Given the description of an element on the screen output the (x, y) to click on. 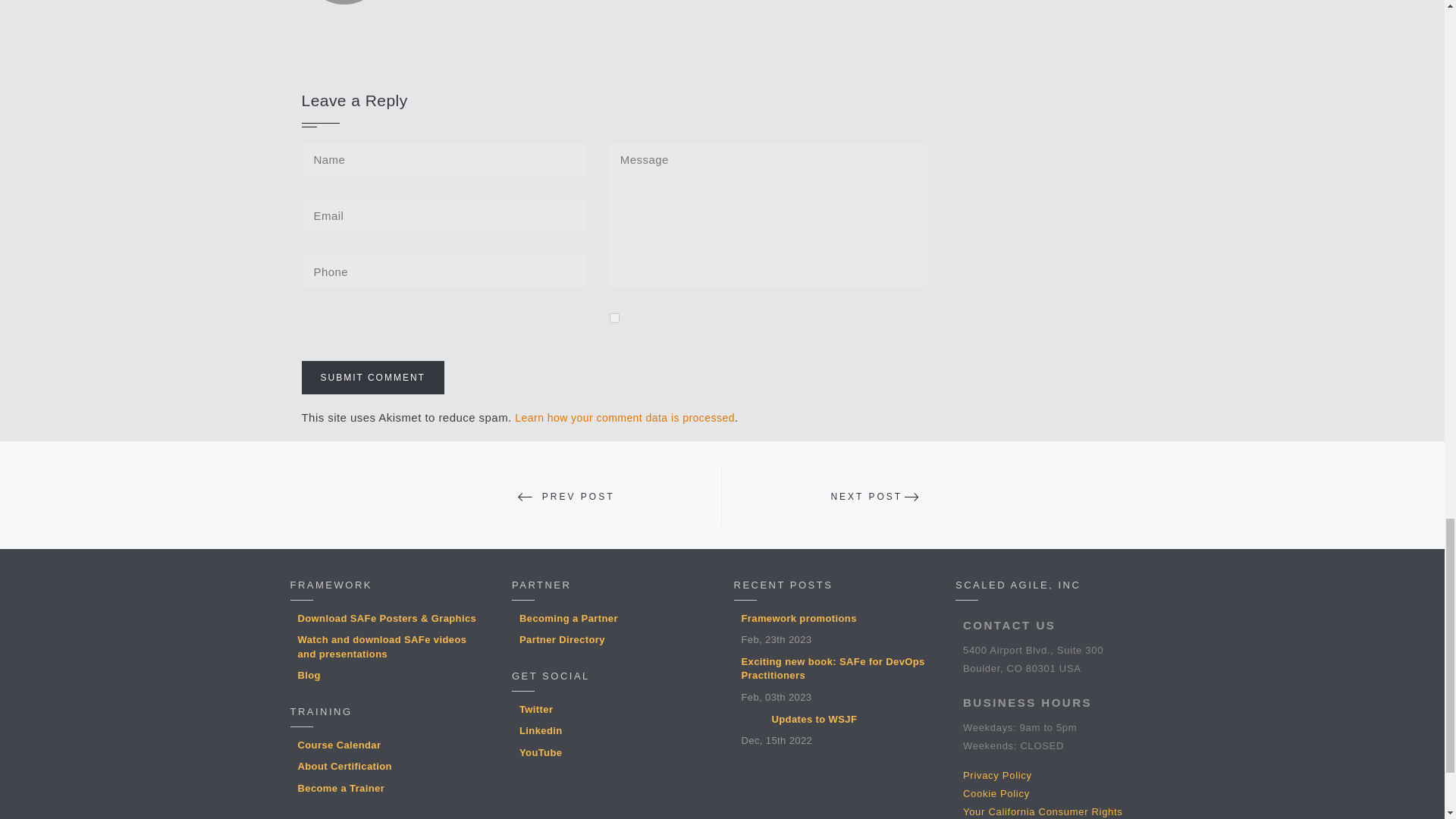
Submit Comment (372, 377)
yes (614, 317)
